Given the description of an element on the screen output the (x, y) to click on. 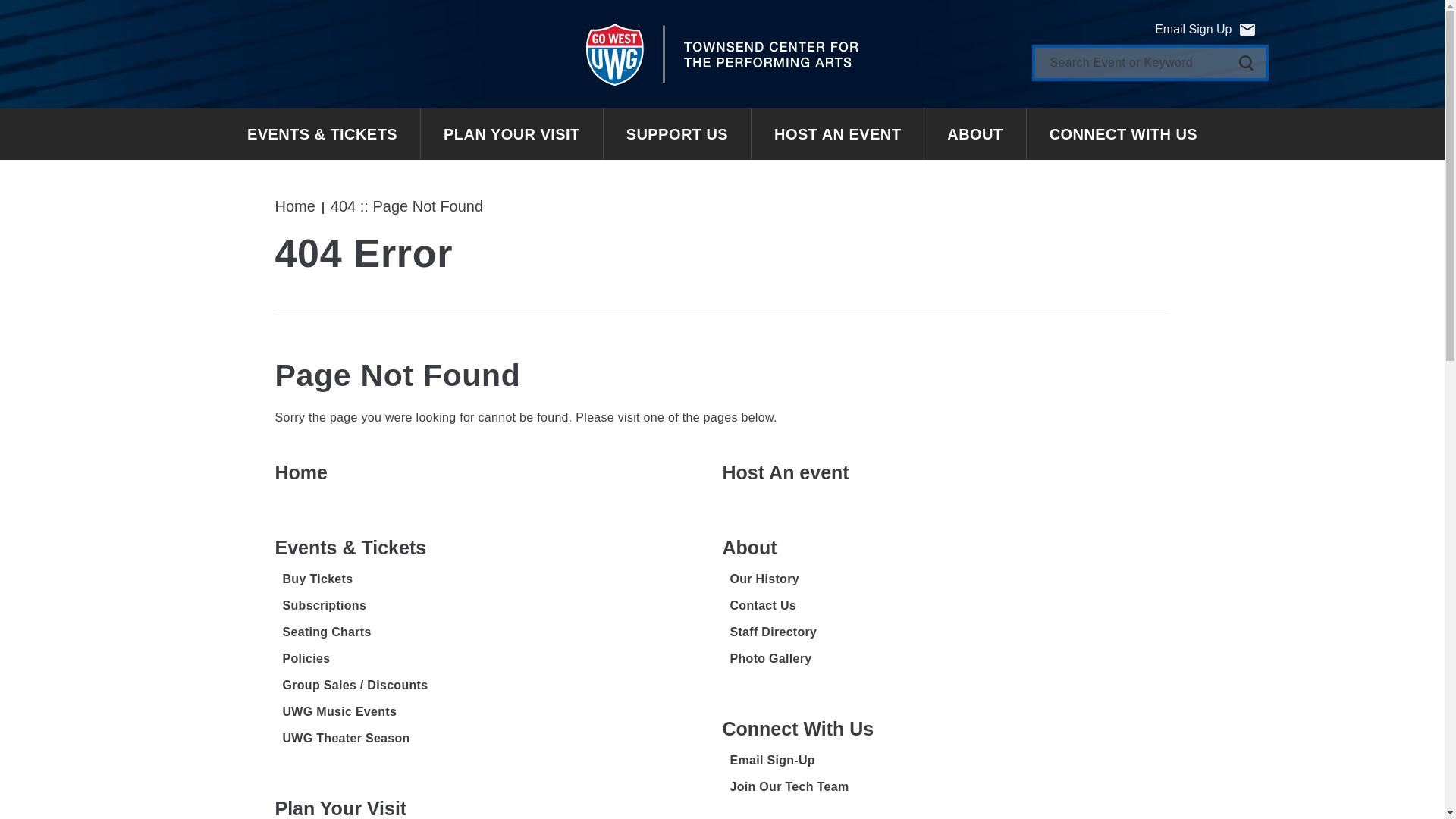
Email Sign Up (1203, 29)
CONNECT WITH US (1123, 133)
Townsend Center for the Performing Arts (722, 53)
HOST AN EVENT (837, 133)
Email Sign Up (1203, 29)
PLAN YOUR VISIT (512, 133)
Search (1246, 62)
ABOUT (975, 133)
SUPPORT US (677, 133)
